Given the description of an element on the screen output the (x, y) to click on. 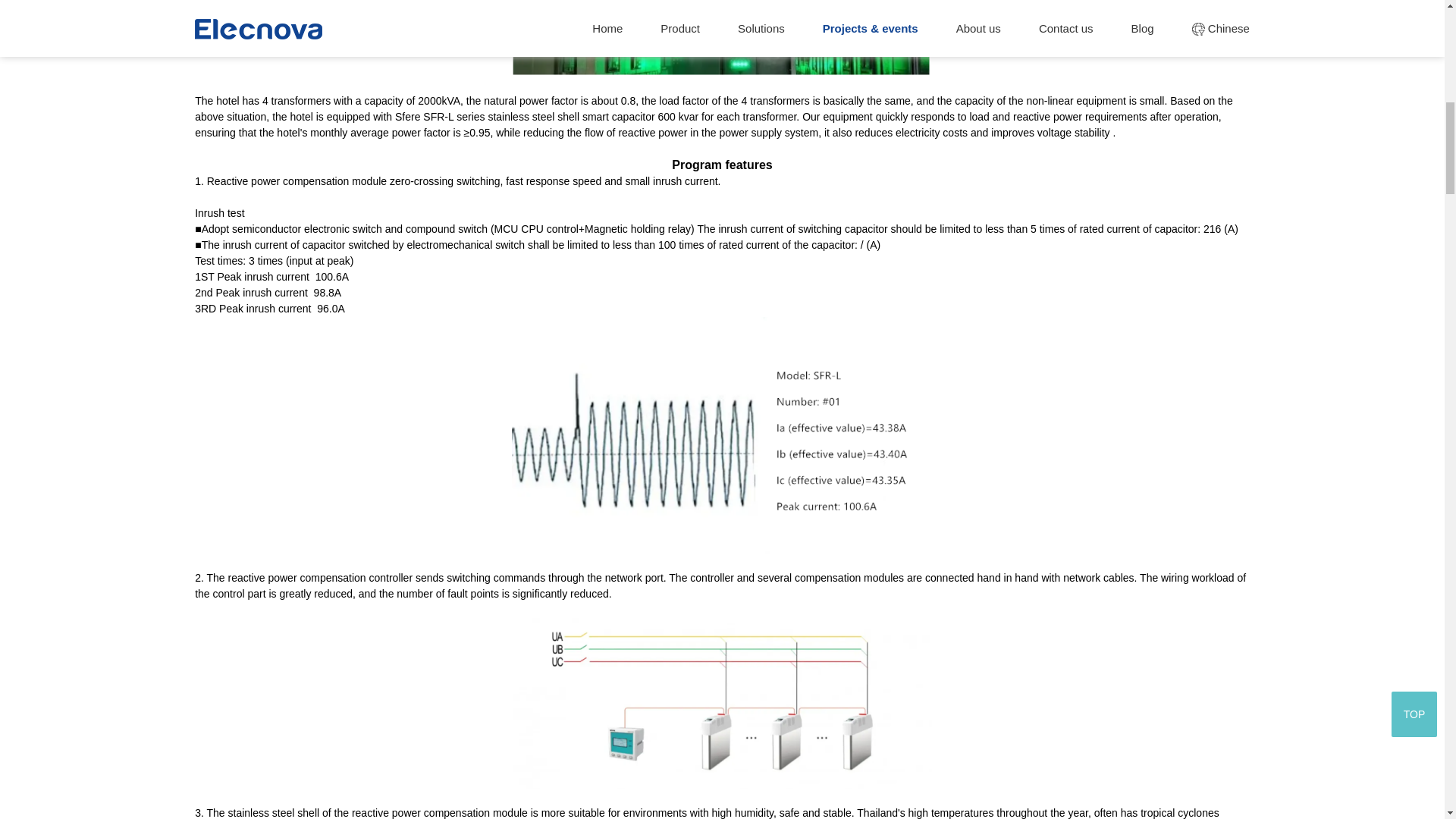
1593766583845749RqDM.png (721, 435)
1593766638620877NNsM.png (721, 703)
1593766538757028ht95.png (721, 38)
